Given the description of an element on the screen output the (x, y) to click on. 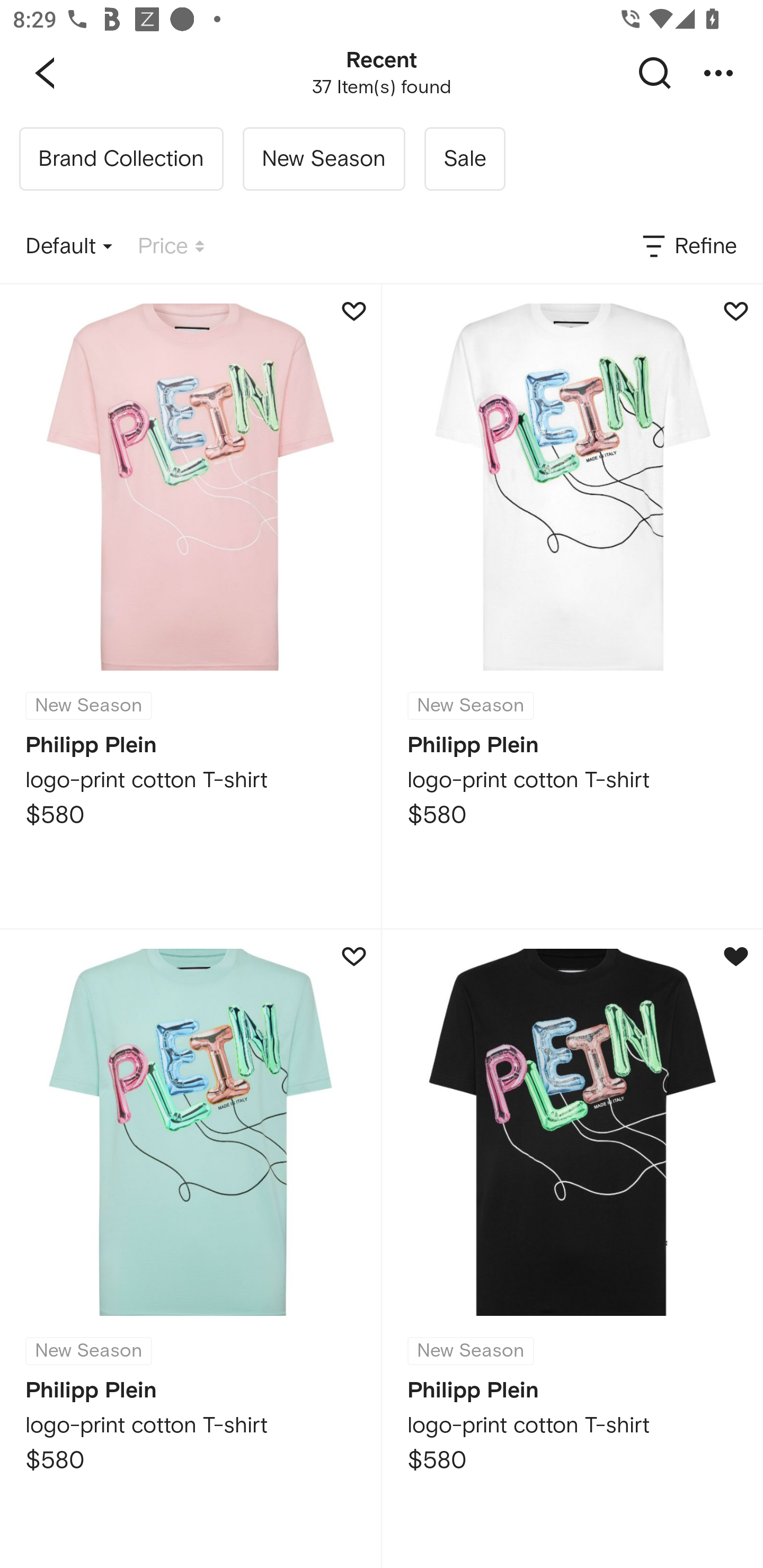
Brand Collection (121, 158)
New Season (323, 158)
Sale (464, 158)
Default (68, 246)
Price (171, 246)
Refine (688, 246)
